Given the description of an element on the screen output the (x, y) to click on. 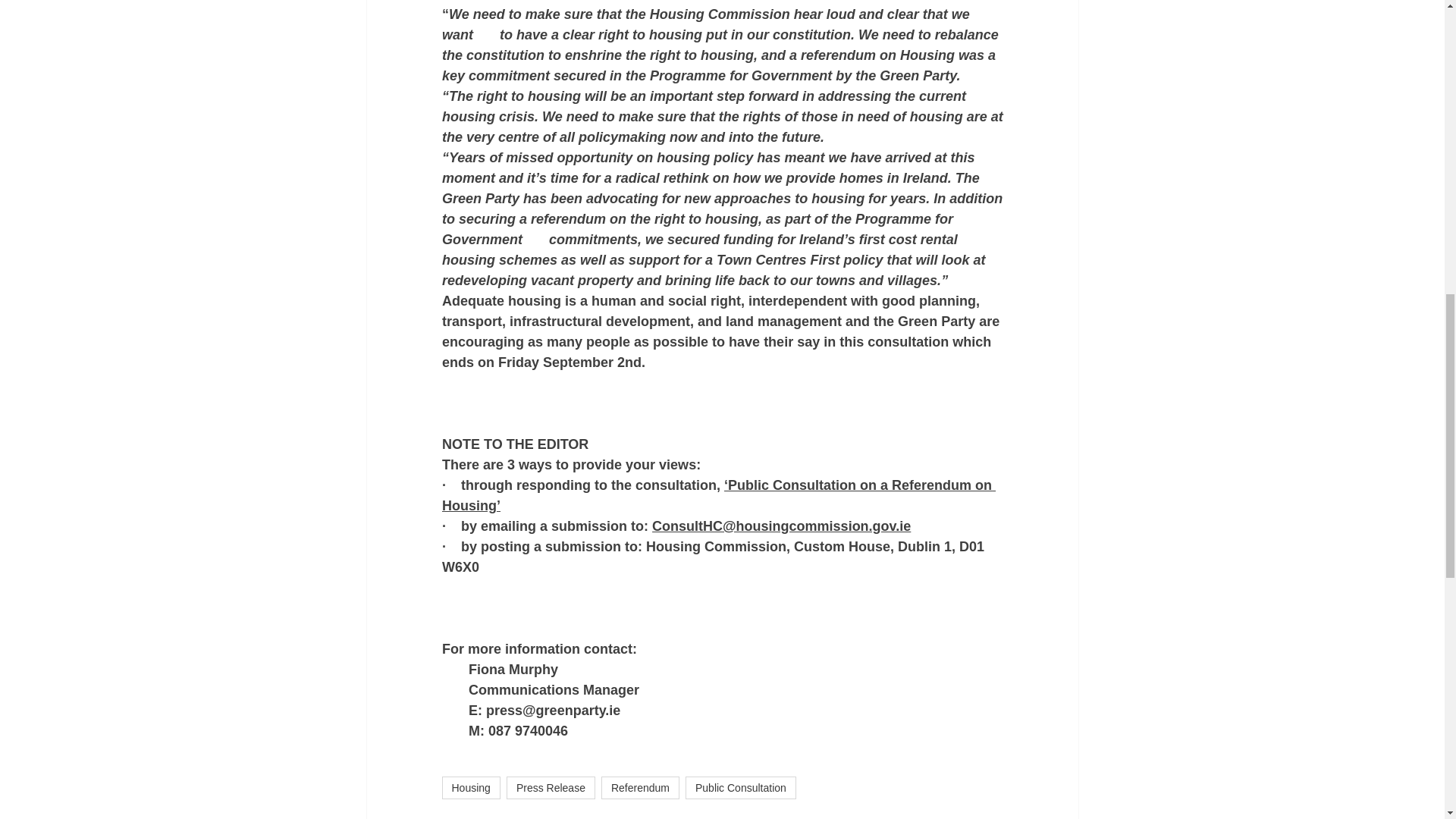
Public Consultation on a Referendum on Housing (717, 495)
Press Release (550, 787)
Housing (470, 787)
Public Consultation (740, 787)
Referendum (640, 787)
